Given the description of an element on the screen output the (x, y) to click on. 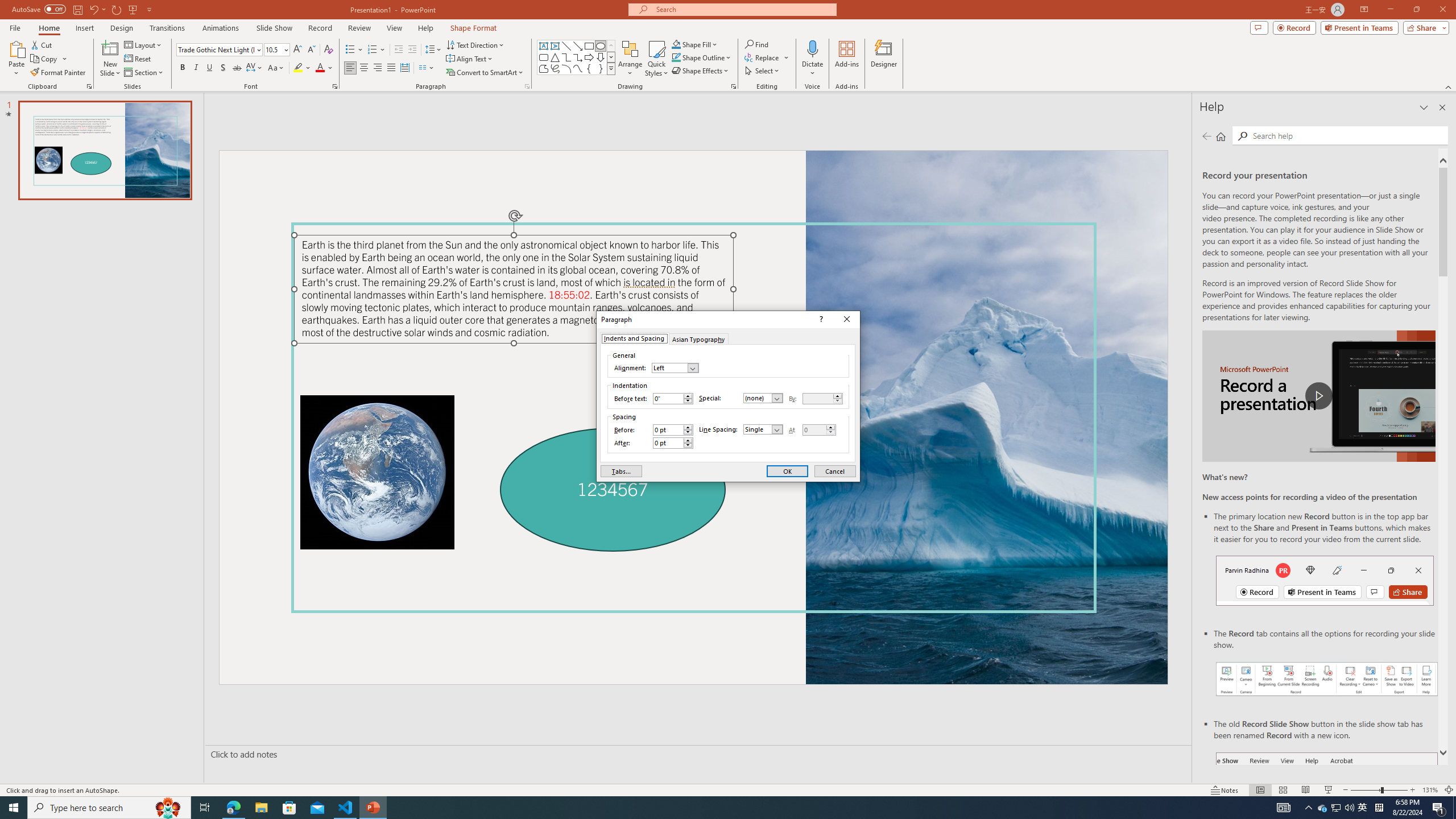
Previous page (1206, 136)
After (667, 442)
Indents and Spacing (633, 337)
